Given the description of an element on the screen output the (x, y) to click on. 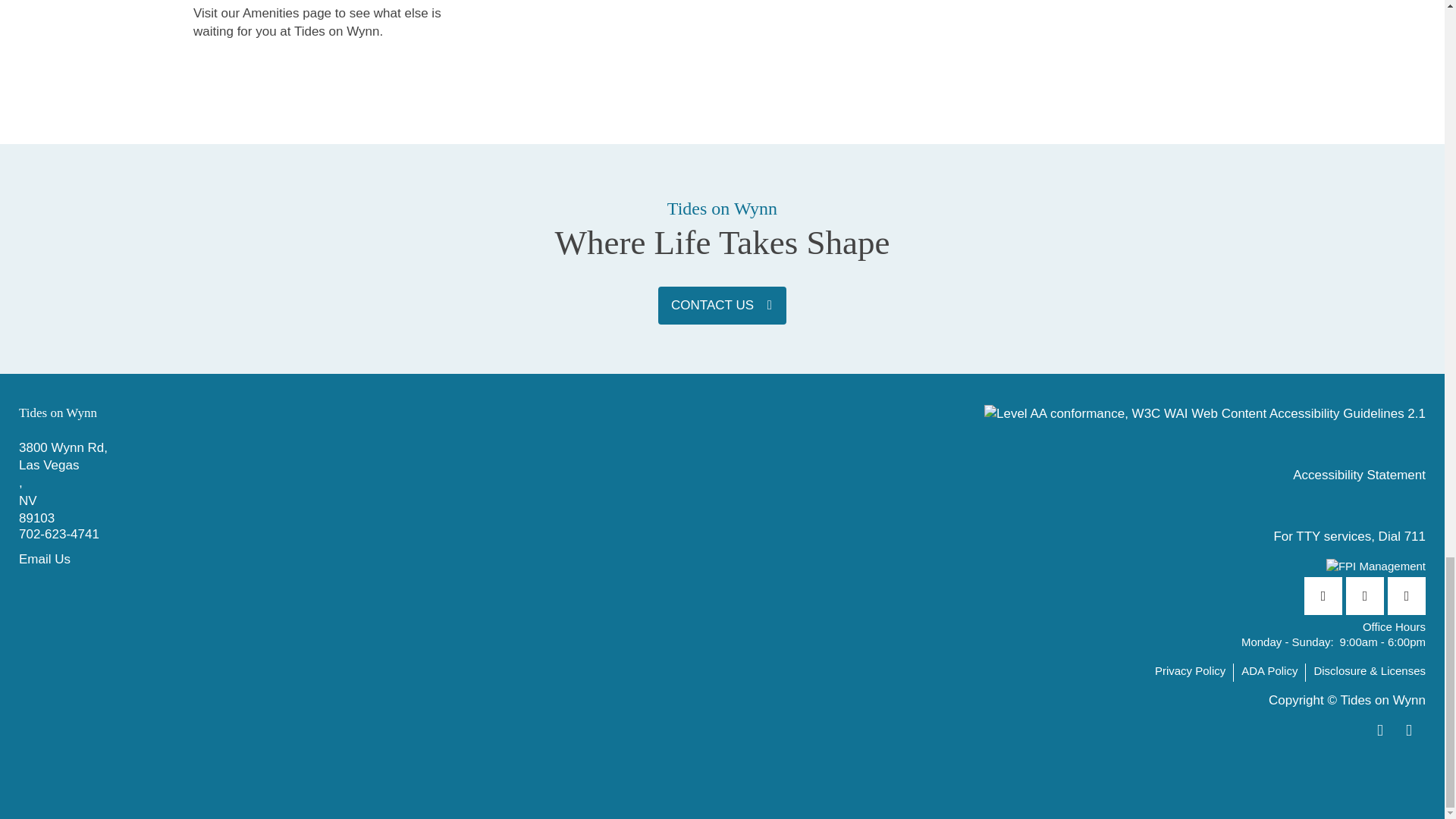
Property Phone Number (370, 536)
Facebook (1323, 596)
Google My Business (1406, 596)
Accessibility Statement (1358, 475)
Email Us (370, 559)
Privacy Policy (1193, 672)
Yelp (1364, 596)
Equal Opportunity Housing (1387, 731)
CONTACT US (722, 305)
702-623-4741 (370, 536)
ADA Policy (1273, 672)
Handicap Friendly (1412, 731)
